Given the description of an element on the screen output the (x, y) to click on. 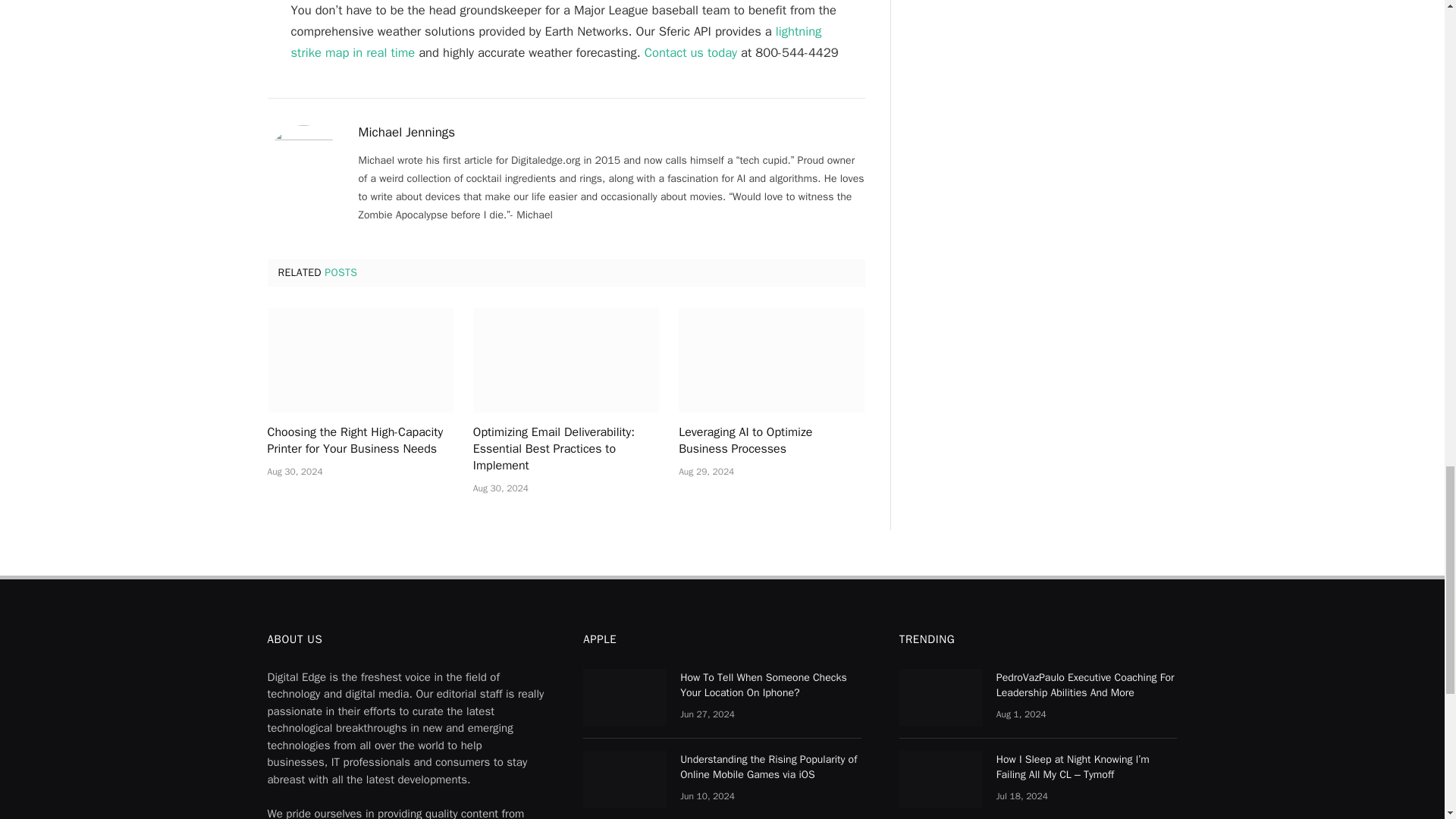
Leveraging AI to Optimize Business Processes (771, 359)
Posts by Michael Jennings (406, 132)
